Given the description of an element on the screen output the (x, y) to click on. 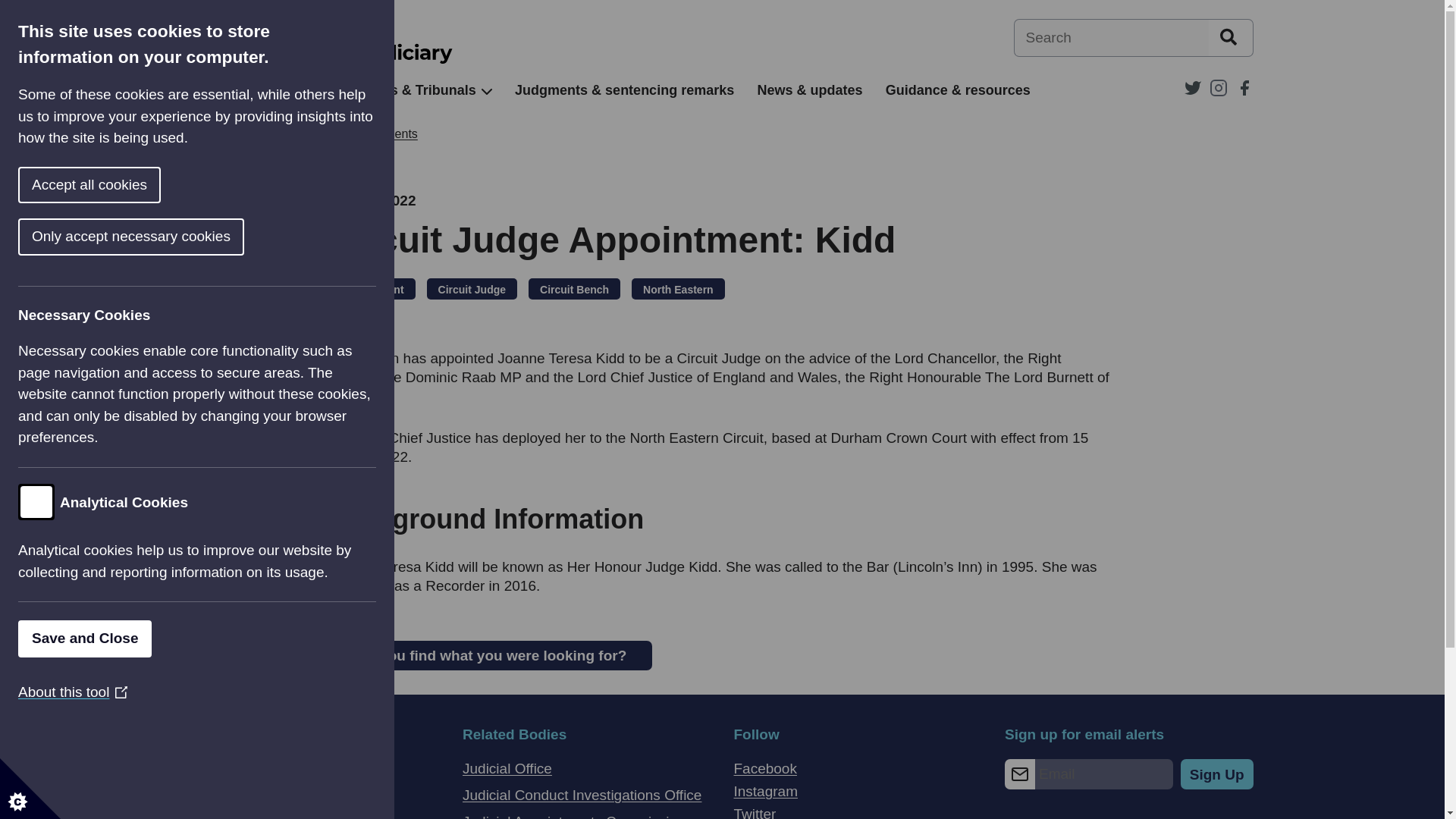
Skip to main content (11, 7)
About the judiciary (252, 90)
Sign Up (1216, 774)
